Given the description of an element on the screen output the (x, y) to click on. 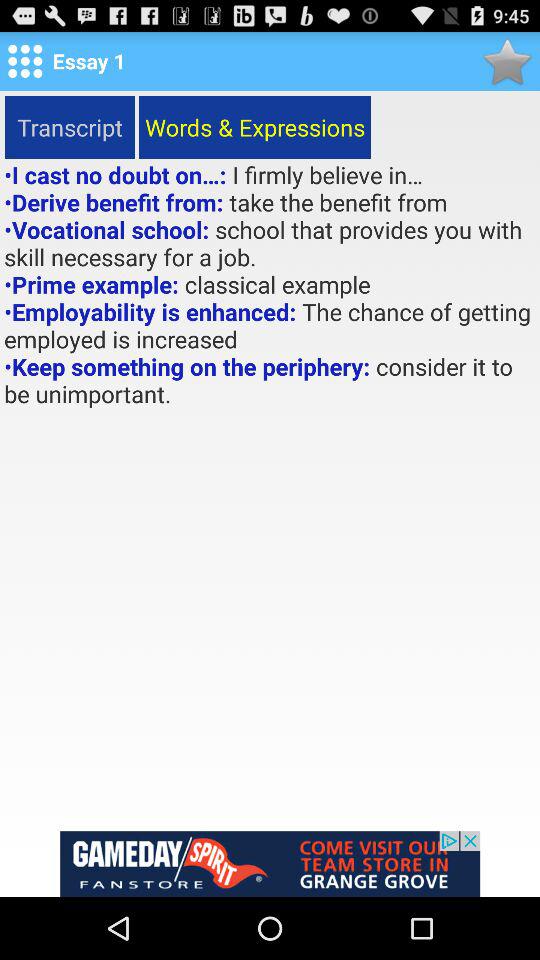
know about the advertisement (270, 864)
